Given the description of an element on the screen output the (x, y) to click on. 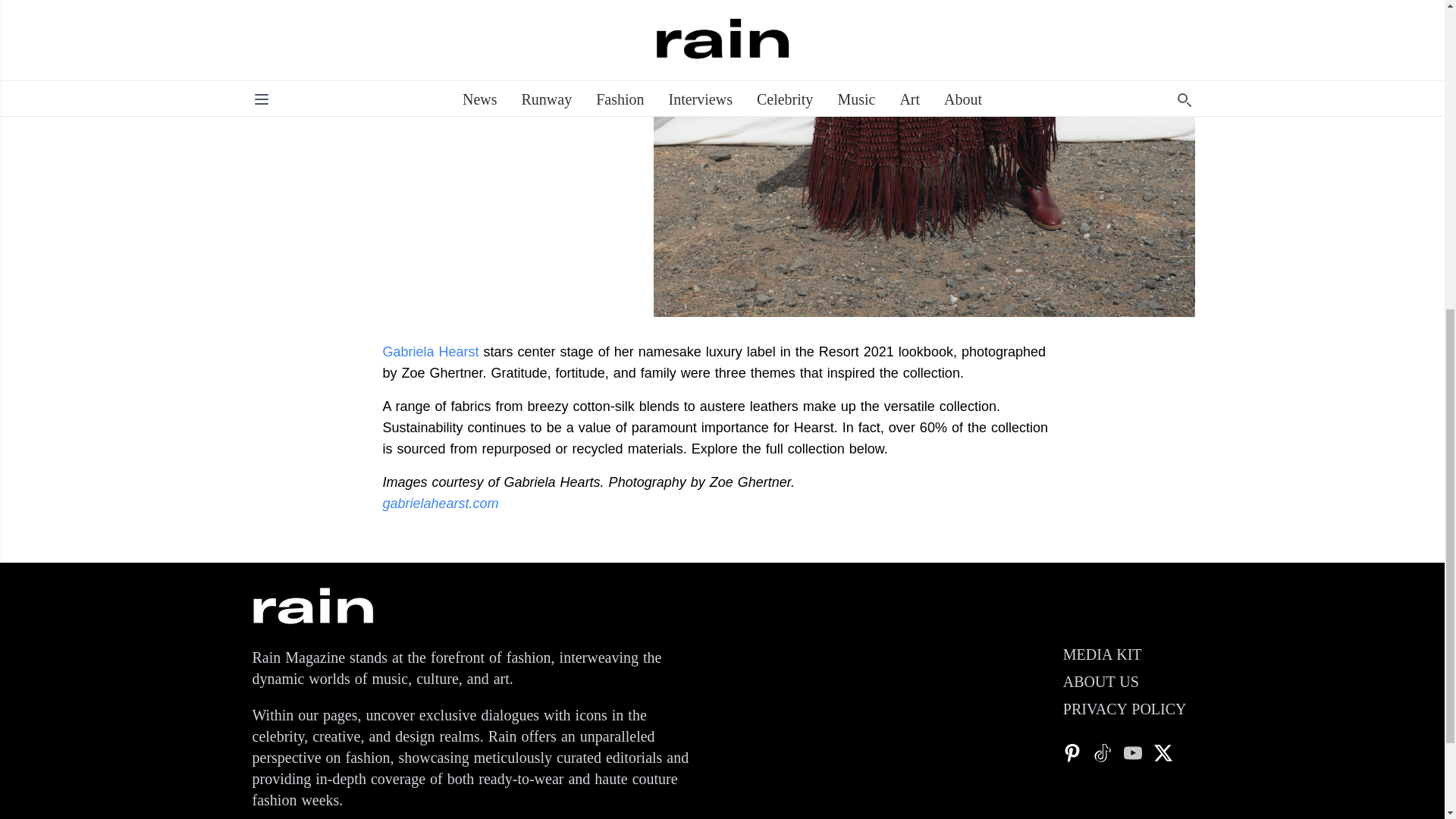
PRIVACY POLICY (1124, 709)
Gabriela Hearst (430, 351)
MEDIA KIT (1101, 654)
gabrielahearst.com (439, 503)
ABOUT US (1100, 681)
